Given the description of an element on the screen output the (x, y) to click on. 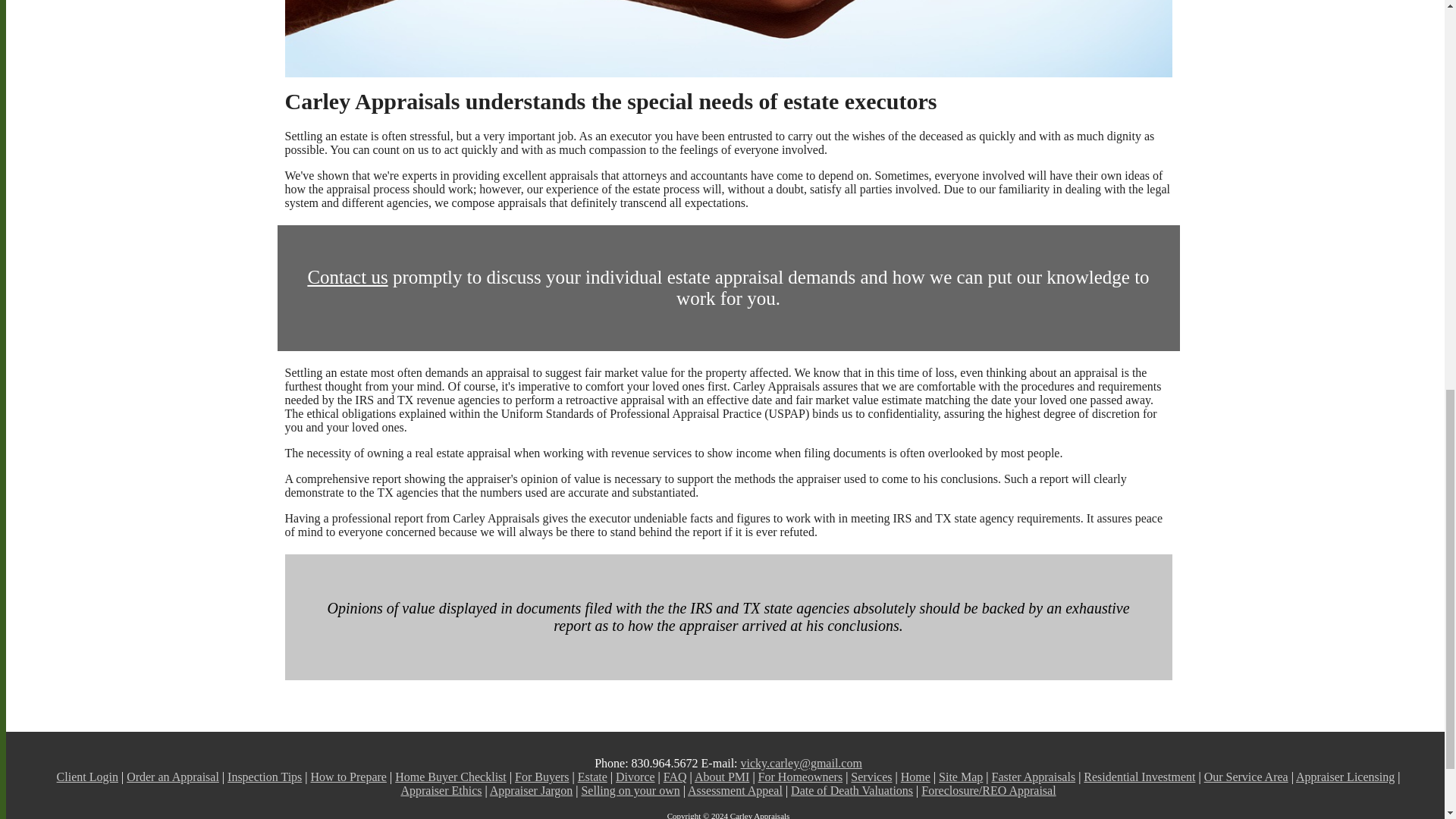
Contact us (347, 276)
